Given the description of an element on the screen output the (x, y) to click on. 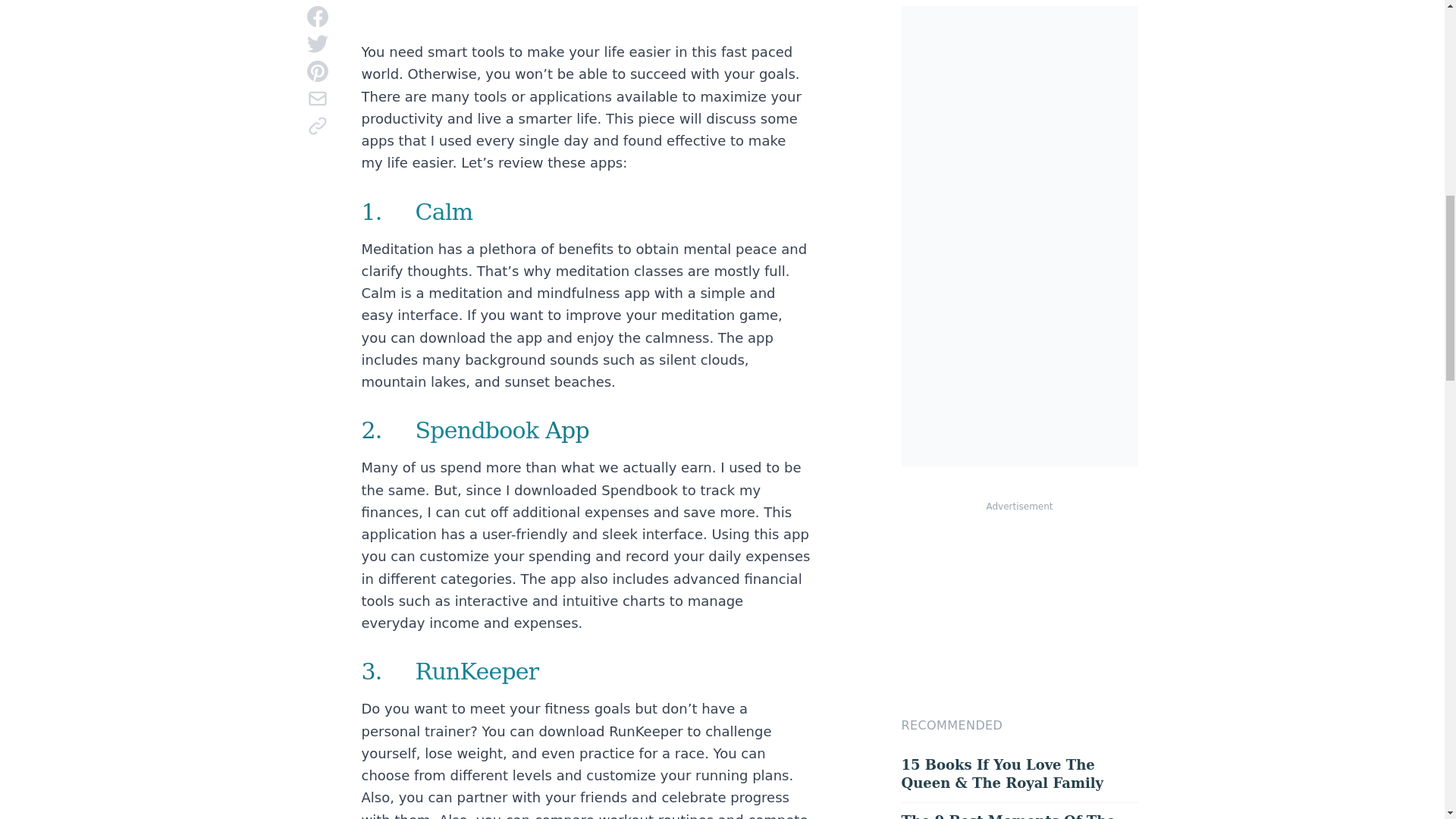
Advertisement (585, 17)
The 9 Best Moments Of The Tokyo Olympics (1019, 811)
RunKeeper (476, 671)
Calm (443, 212)
Spendbook (476, 429)
